Given the description of an element on the screen output the (x, y) to click on. 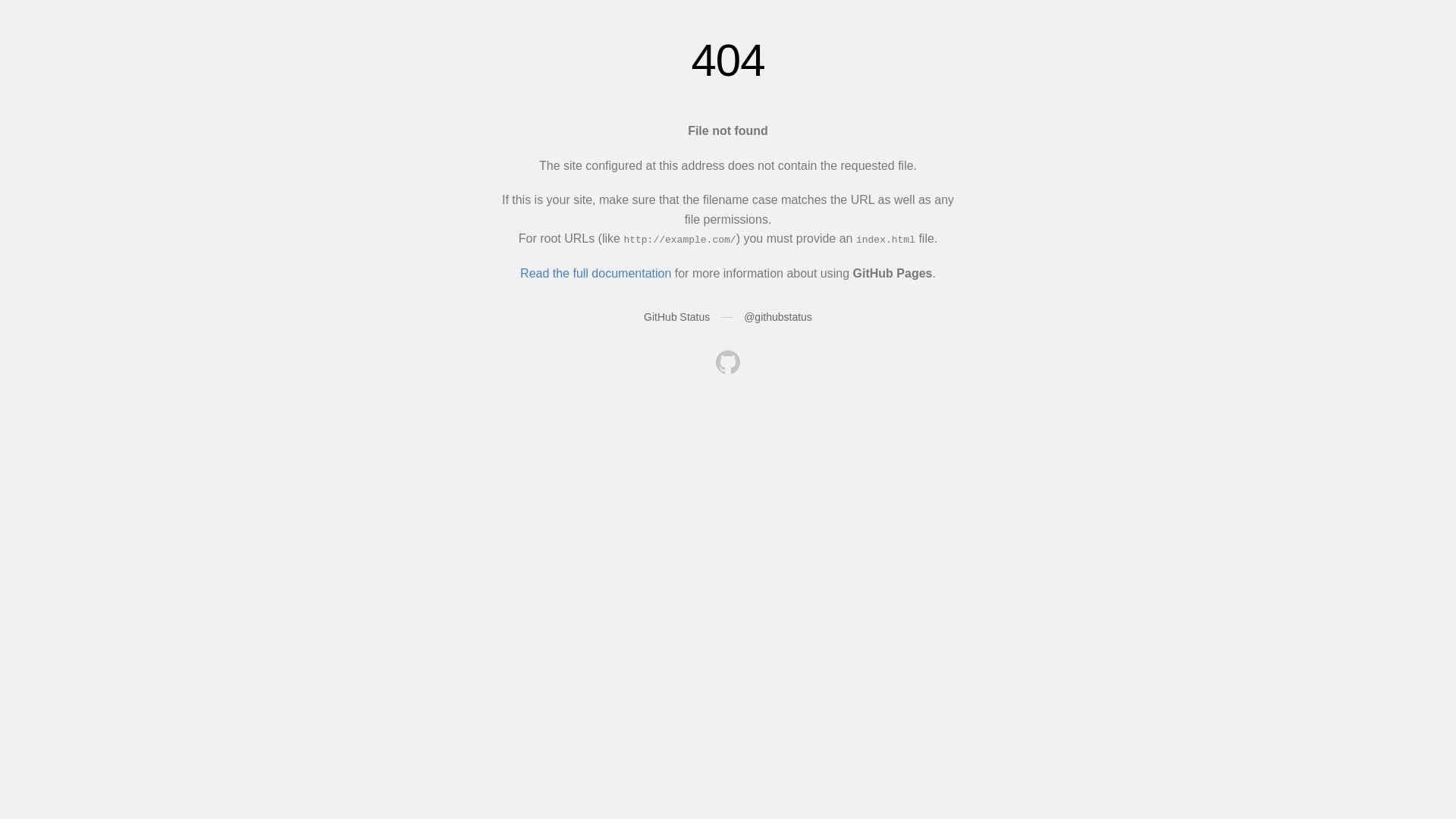
Read the full documentation Element type: text (595, 272)
@githubstatus Element type: text (777, 316)
GitHub Status Element type: text (676, 316)
